Given the description of an element on the screen output the (x, y) to click on. 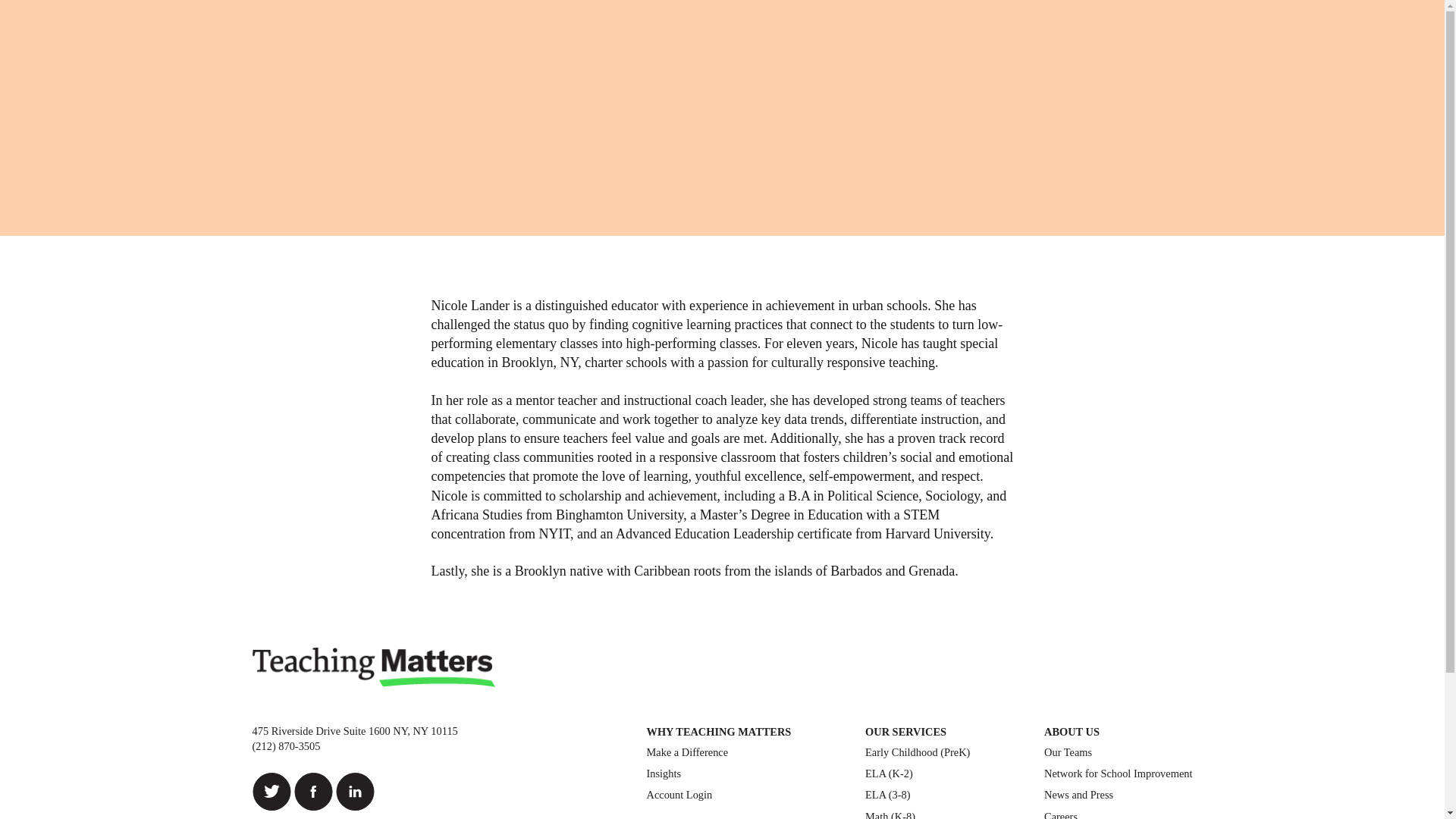
Careers (1060, 814)
Our Teams (1067, 752)
News and Press (1078, 794)
Insights (663, 773)
Account Login (678, 794)
Make a Difference (687, 752)
WHY TEACHING MATTERS (718, 731)
OUR SERVICES (905, 731)
ABOUT US (1071, 731)
Network for School Improvement (1117, 773)
